Given the description of an element on the screen output the (x, y) to click on. 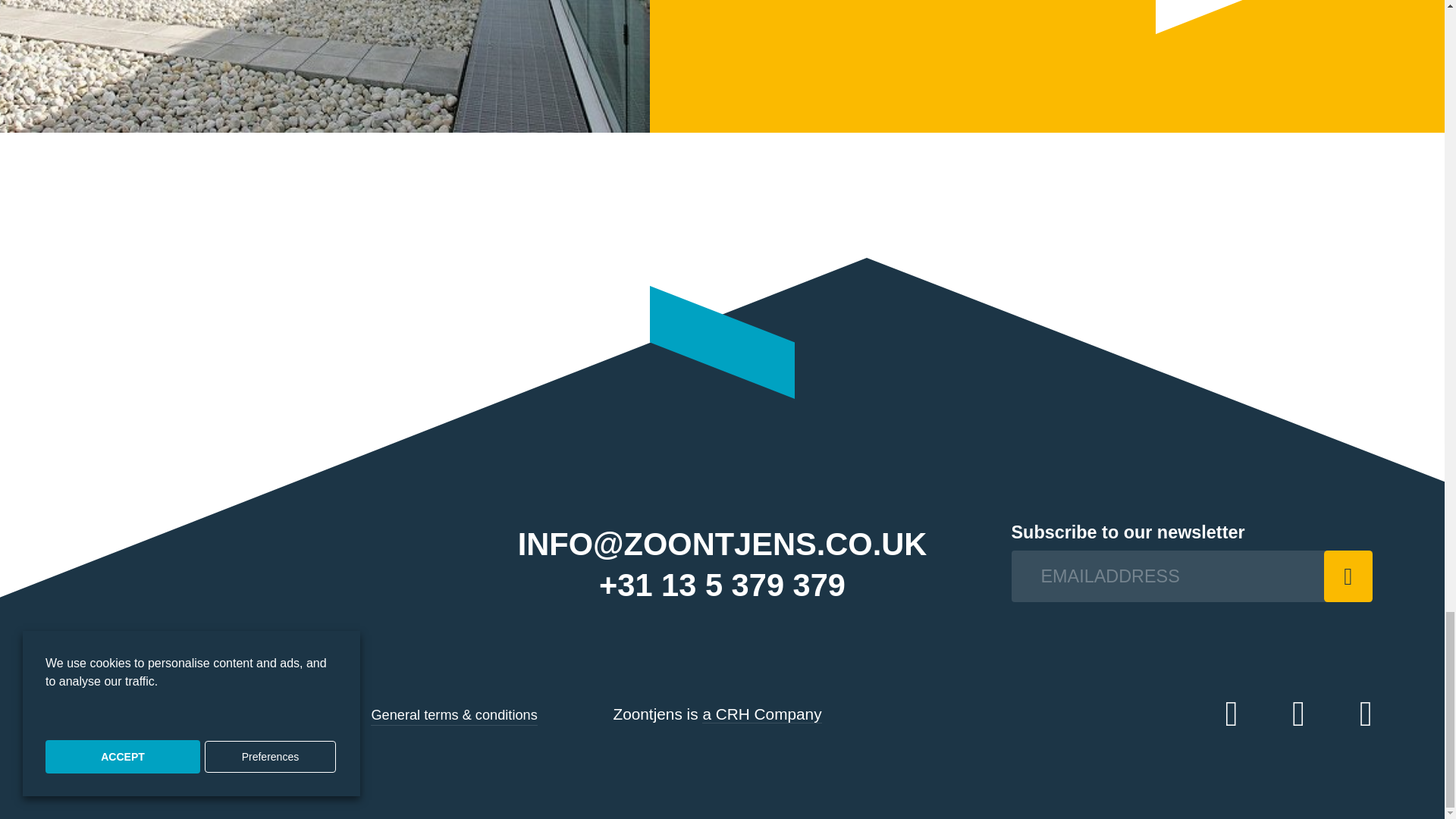
Privacy (256, 715)
Disclaimer (324, 715)
CRH (761, 714)
